Given the description of an element on the screen output the (x, y) to click on. 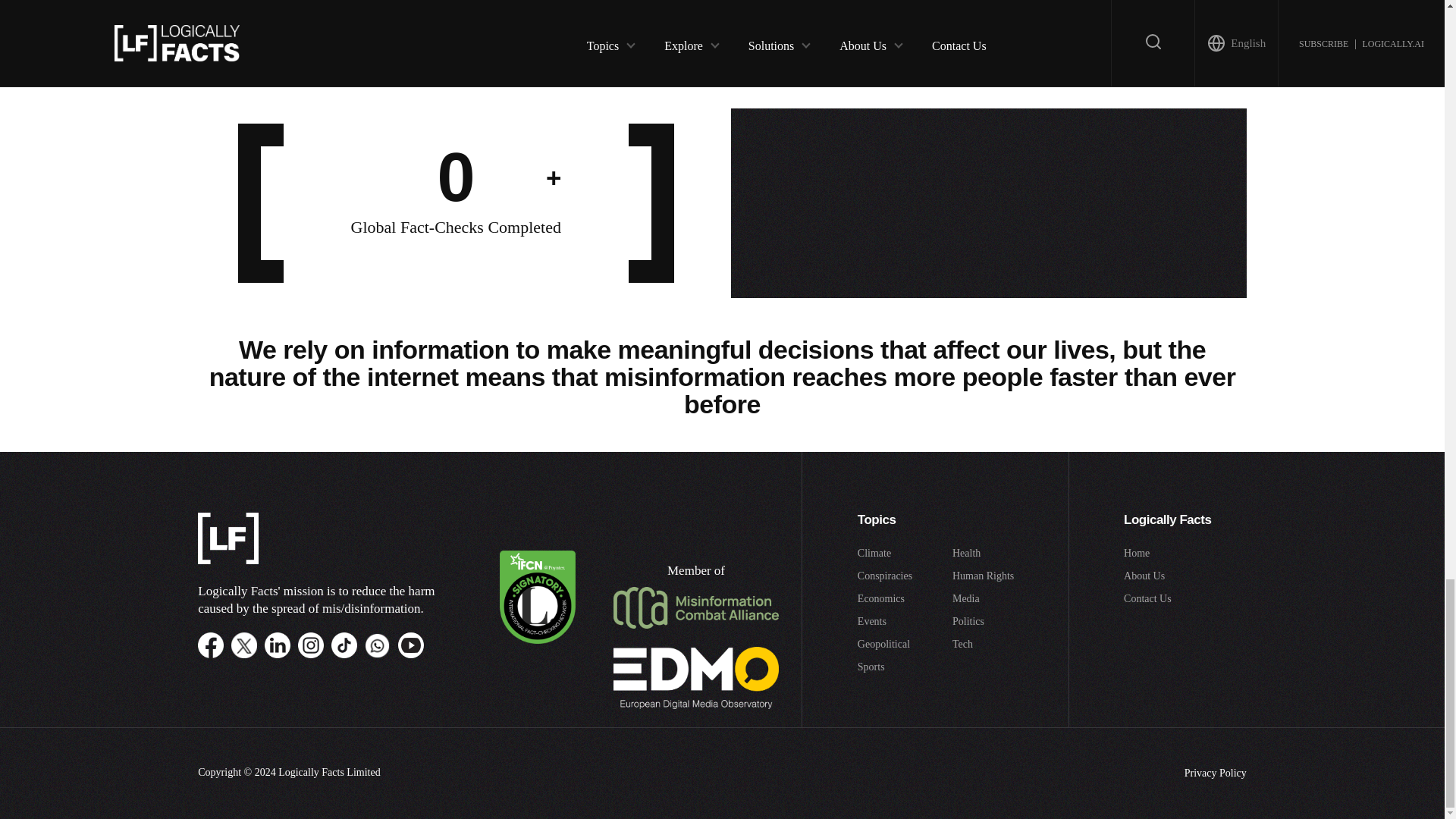
IFCN signatory (537, 639)
